Given the description of an element on the screen output the (x, y) to click on. 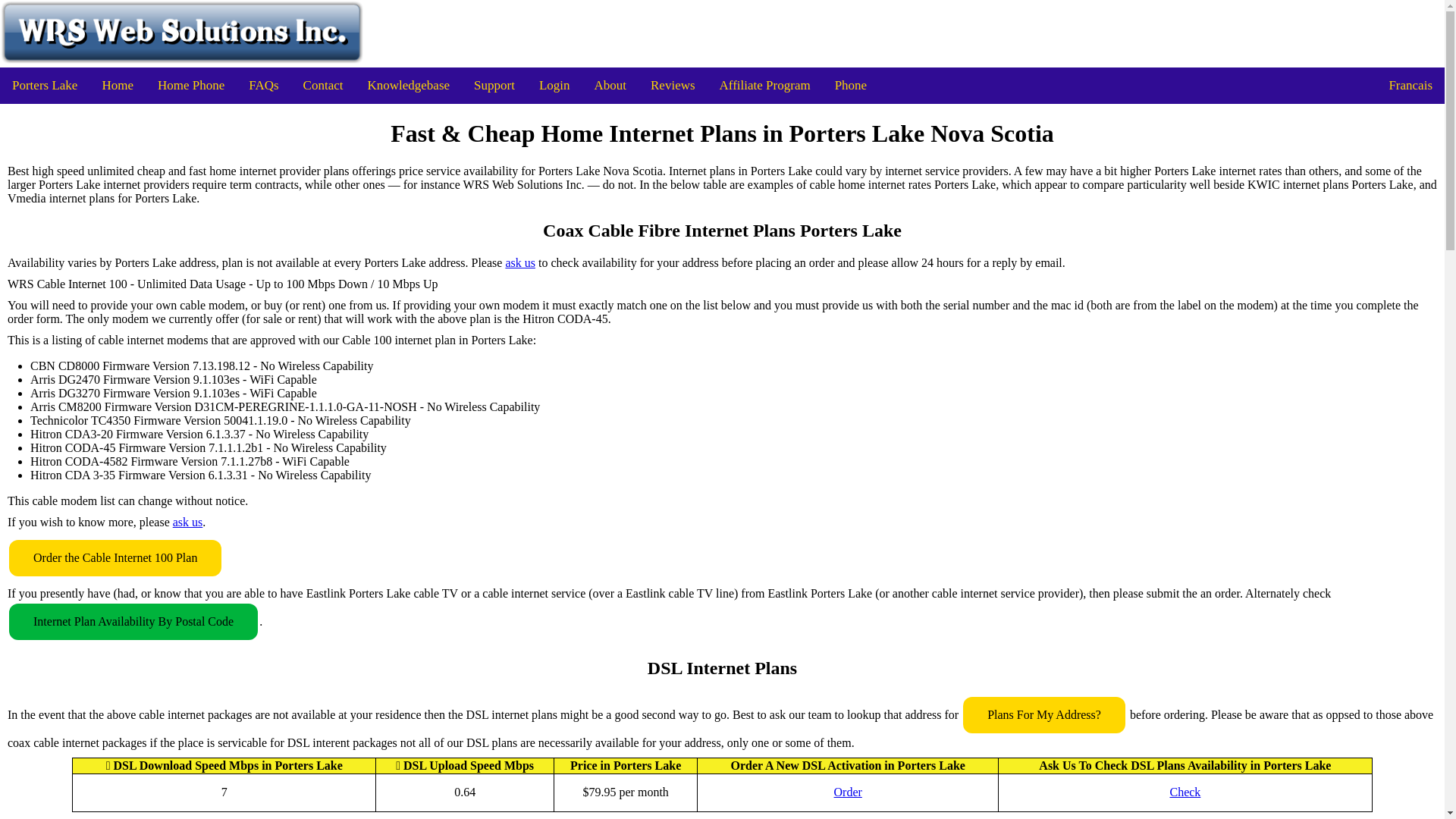
Order (847, 792)
Phone (850, 85)
Internet Plan Availability By Postal Code (132, 621)
Order the Cable Internet 100 Plan (114, 557)
ask us (188, 522)
Reviews (673, 85)
FAQs (262, 85)
Home (116, 85)
Knowledgebase (408, 85)
About (610, 85)
